Given the description of an element on the screen output the (x, y) to click on. 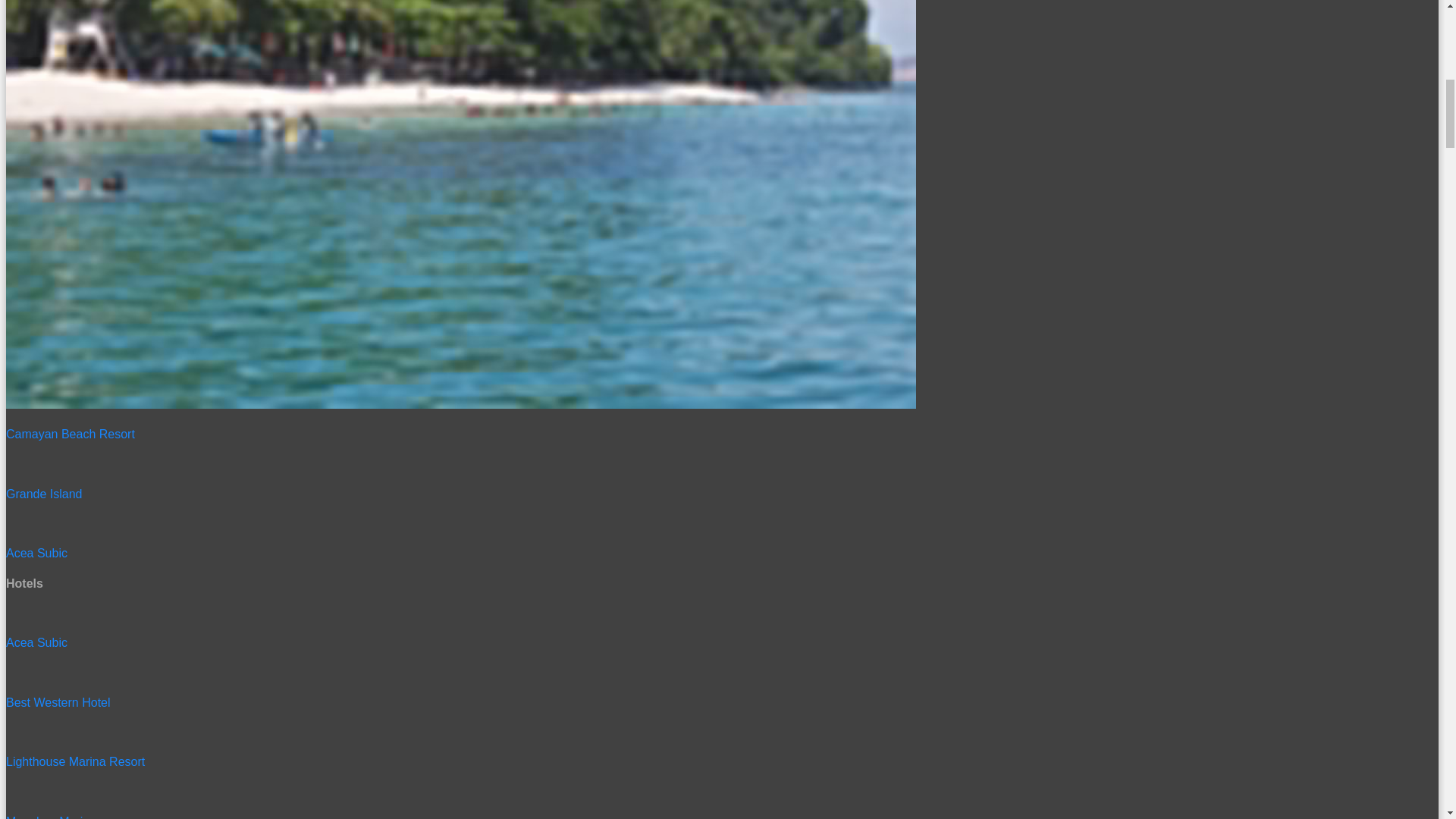
Grande Island (714, 463)
Camayan Beach Resort (714, 394)
